Given the description of an element on the screen output the (x, y) to click on. 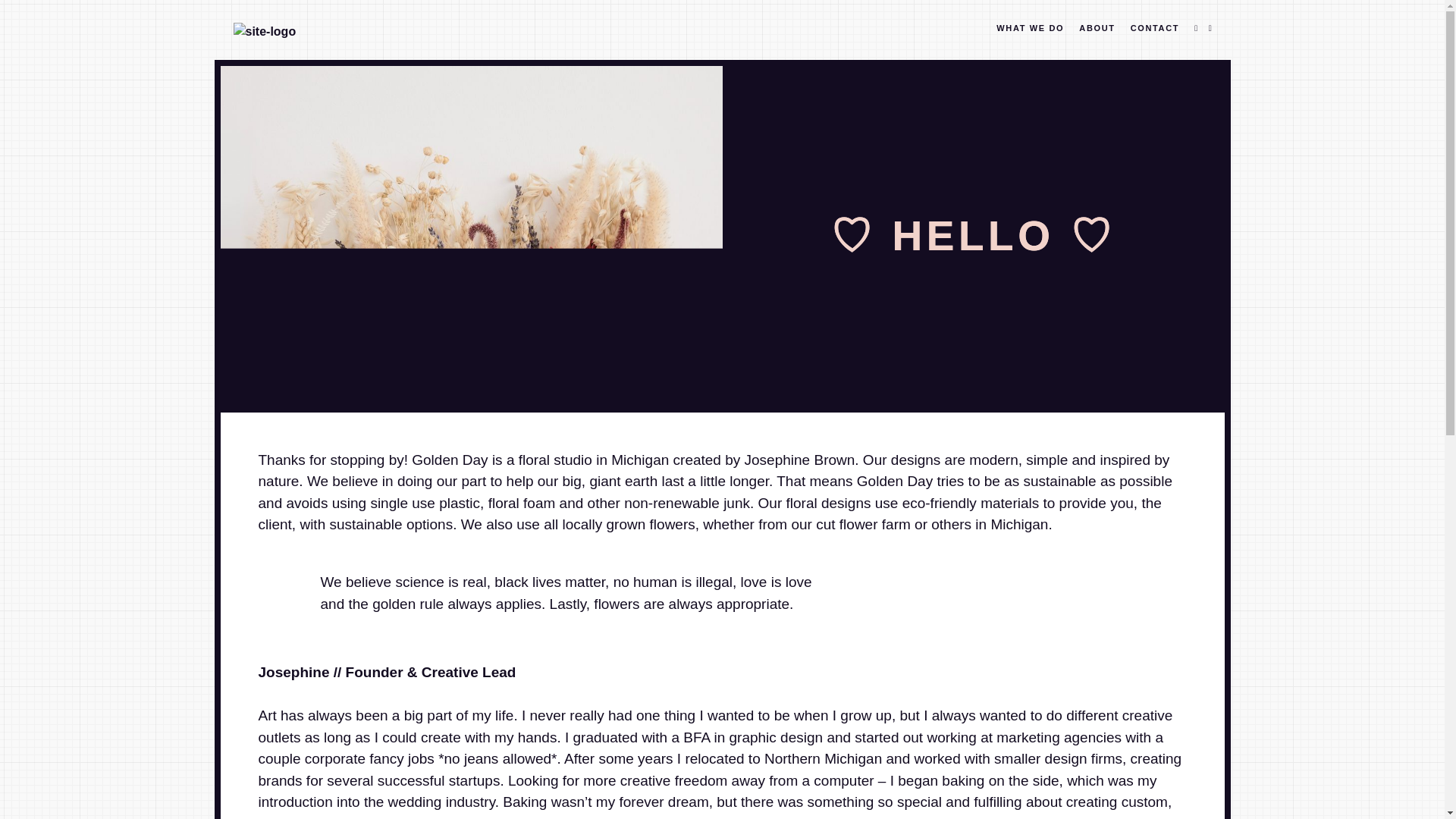
GOLDEN DAY DESIGN (406, 33)
ABOUT (1096, 30)
WHAT WE DO (1029, 30)
CONTACT (1155, 30)
